Given the description of an element on the screen output the (x, y) to click on. 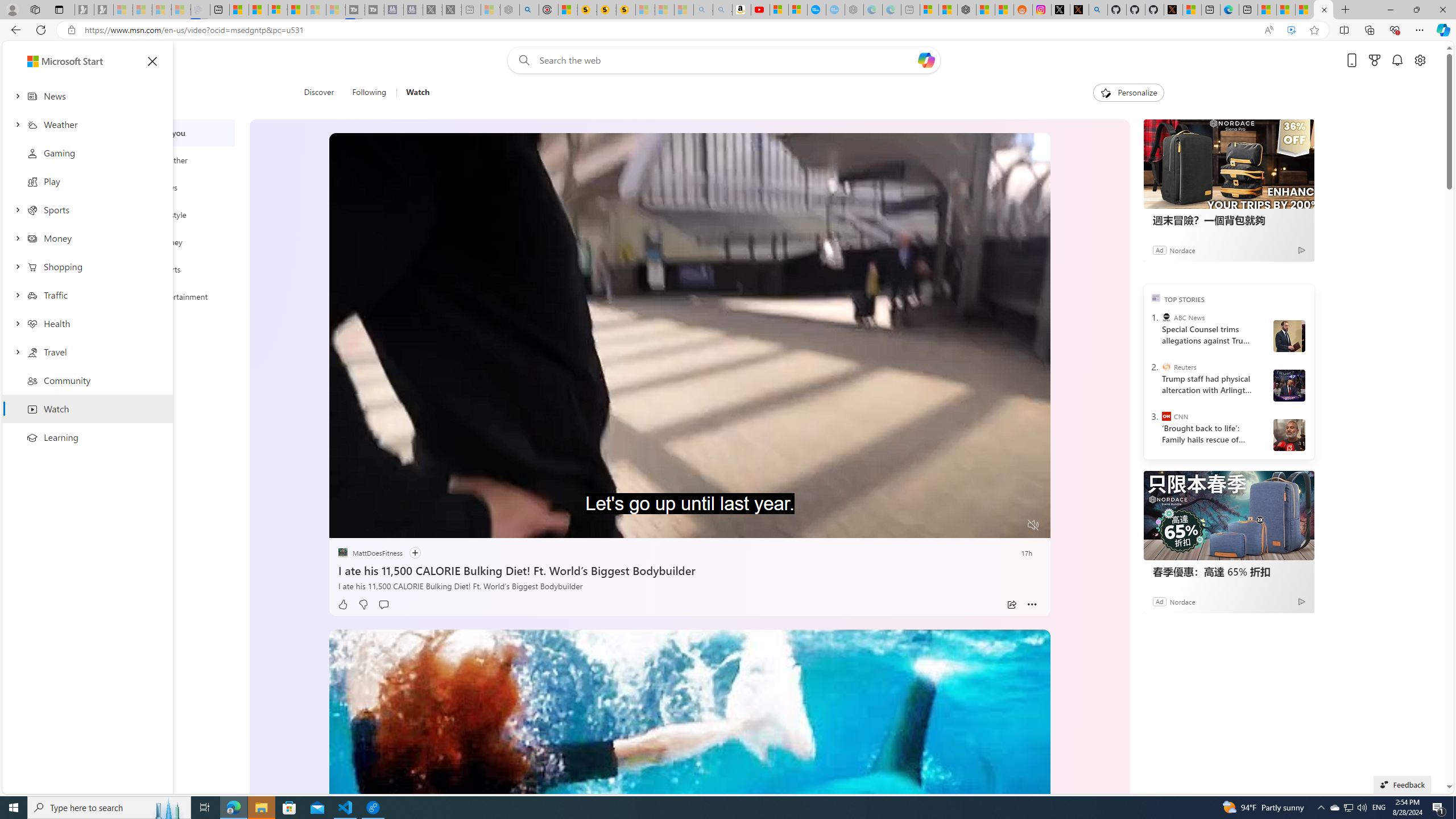
Michelle Starr, Senior Journalist at ScienceAlert (625, 9)
Share (1010, 604)
Class: button-glyph (152, 61)
Nordace - Summer Adventures 2024 - Sleeping (509, 9)
Open settings (1420, 60)
Share (1010, 604)
Follow (414, 553)
